Given the description of an element on the screen output the (x, y) to click on. 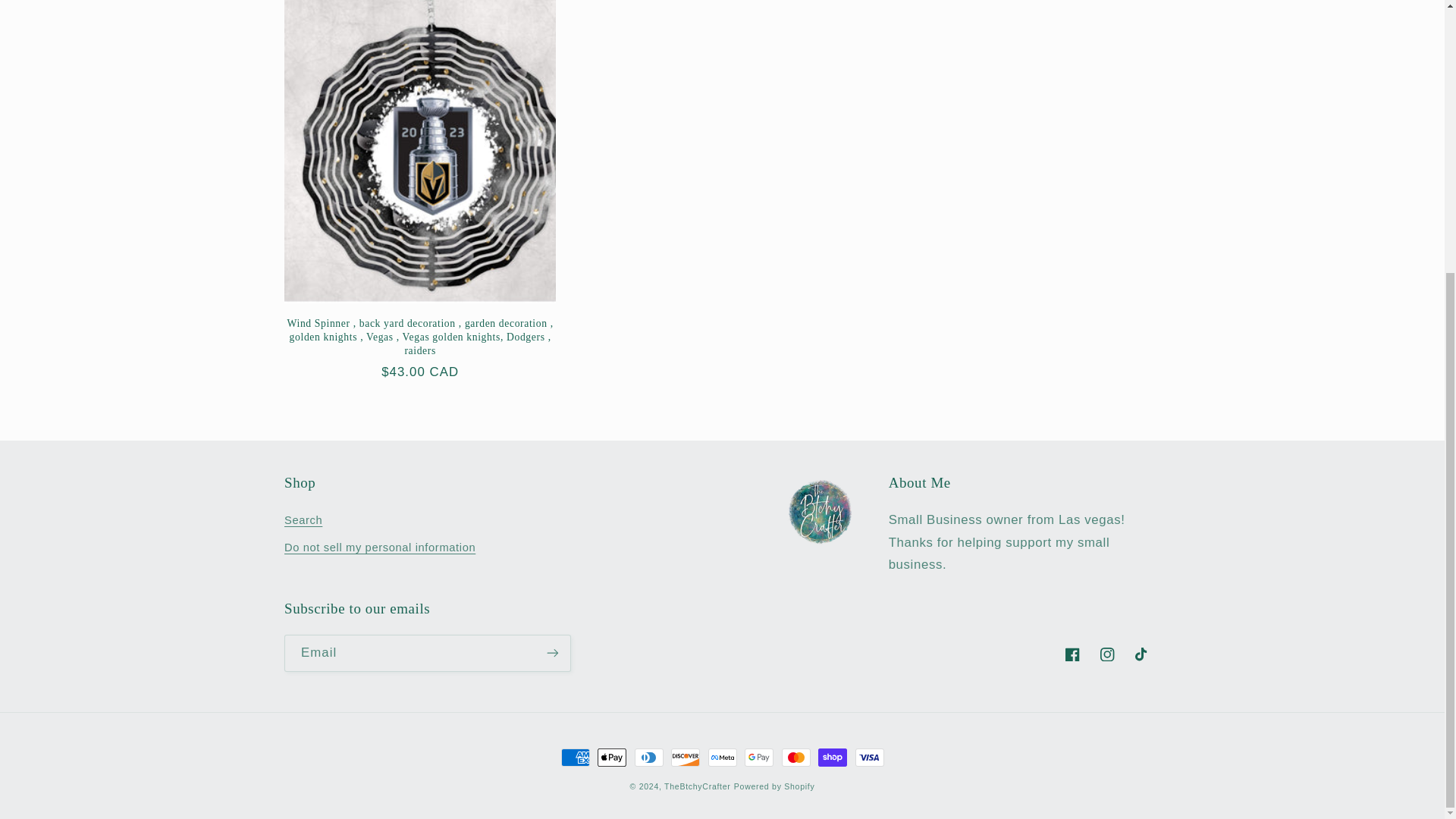
Do not sell my personal information (379, 547)
Facebook (1071, 654)
TikTok (1142, 654)
Search (302, 522)
Powered by Shopify (774, 786)
Instagram (1107, 654)
TheBtchyCrafter (696, 786)
